Given the description of an element on the screen output the (x, y) to click on. 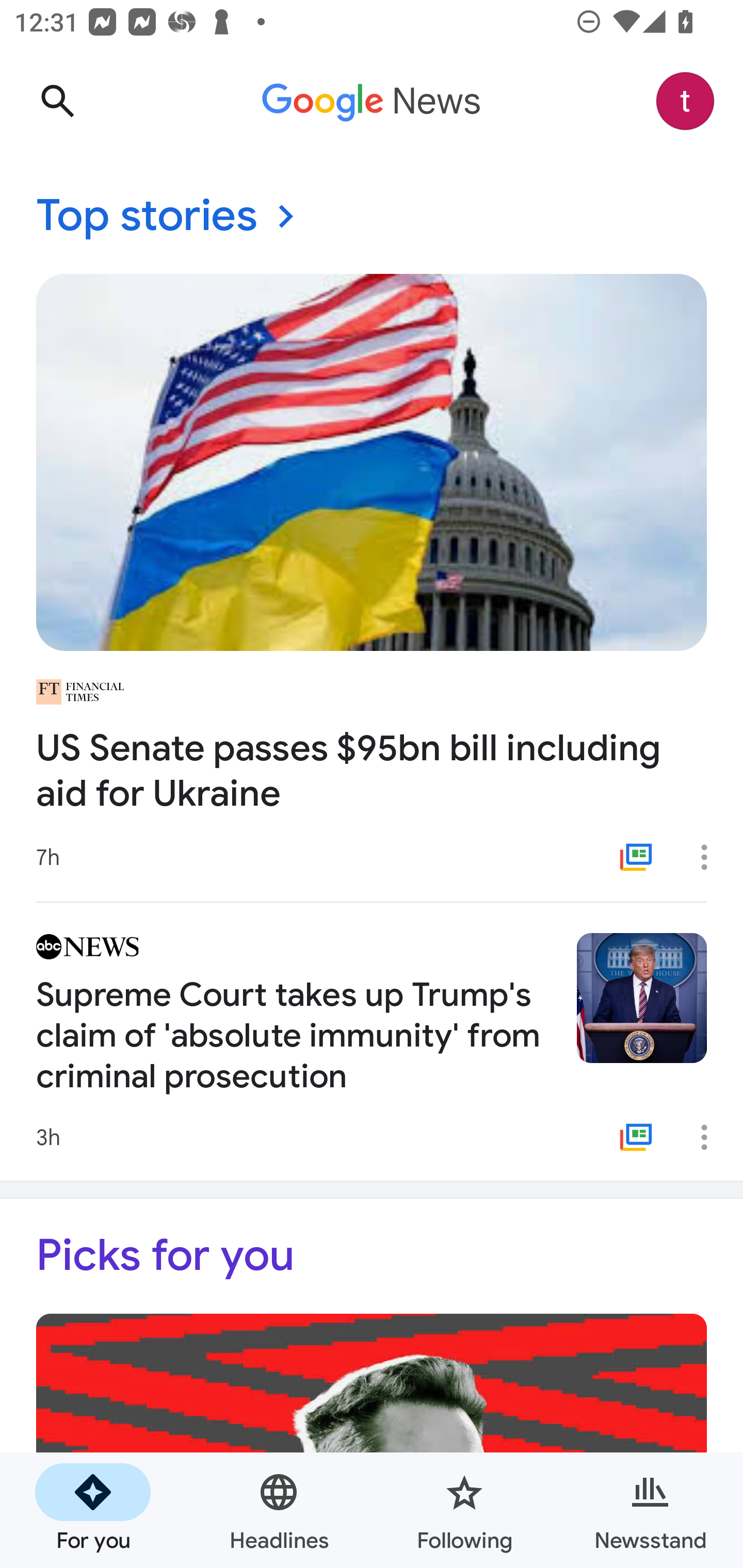
Search (57, 100)
Top stories (371, 216)
More options (711, 856)
More options (711, 1137)
For you (92, 1509)
Headlines (278, 1509)
Following (464, 1509)
Newsstand (650, 1509)
